Given the description of an element on the screen output the (x, y) to click on. 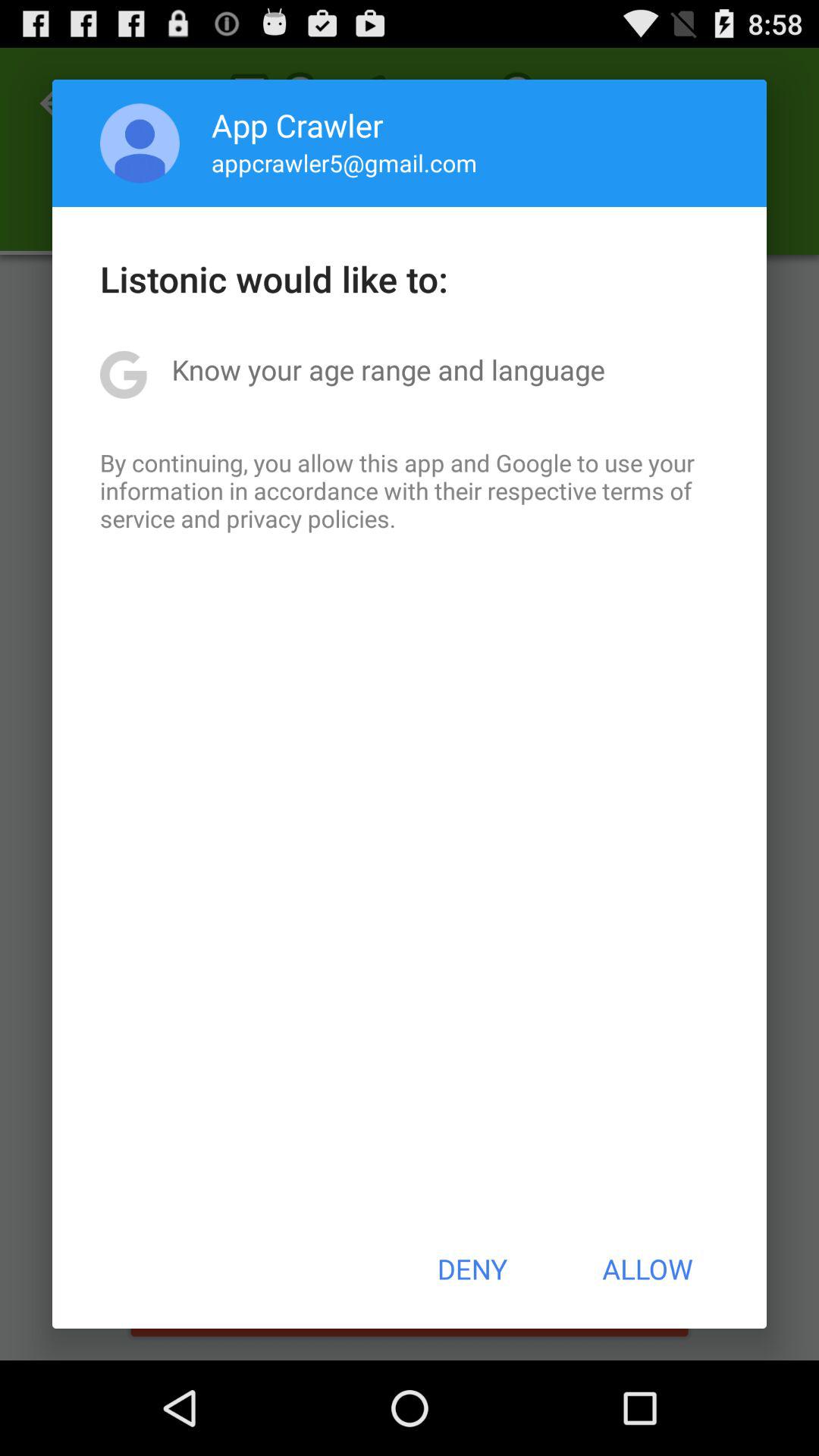
launch the icon to the left of the allow (471, 1268)
